Given the description of an element on the screen output the (x, y) to click on. 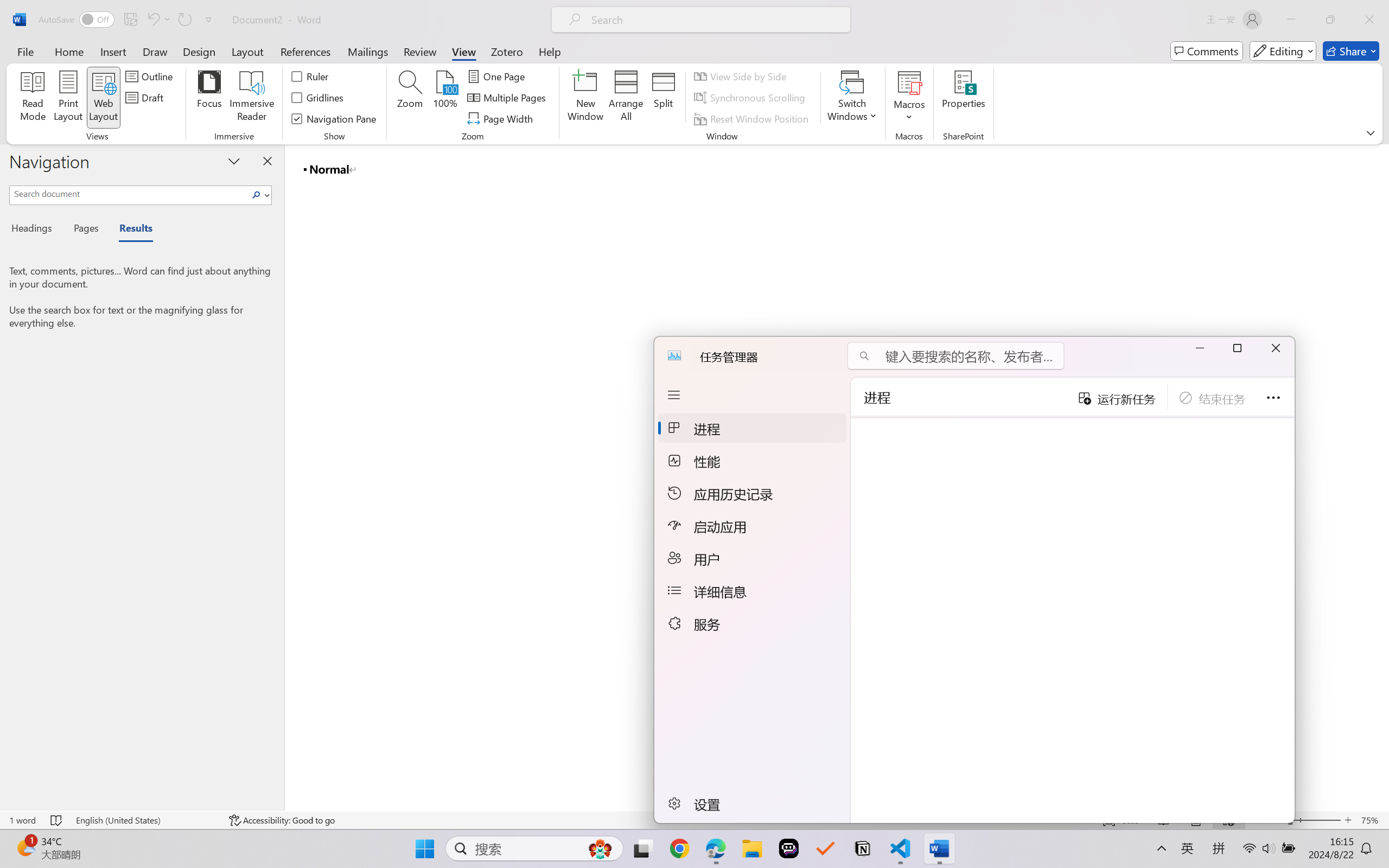
Review (419, 51)
Google Chrome (679, 848)
Page Width (501, 118)
Spelling and Grammar Check No Errors (56, 819)
Gridlines (317, 97)
New Window (585, 97)
Pages (85, 229)
100% (445, 97)
Task Pane Options (233, 161)
Immersive Reader (251, 97)
